Given the description of an element on the screen output the (x, y) to click on. 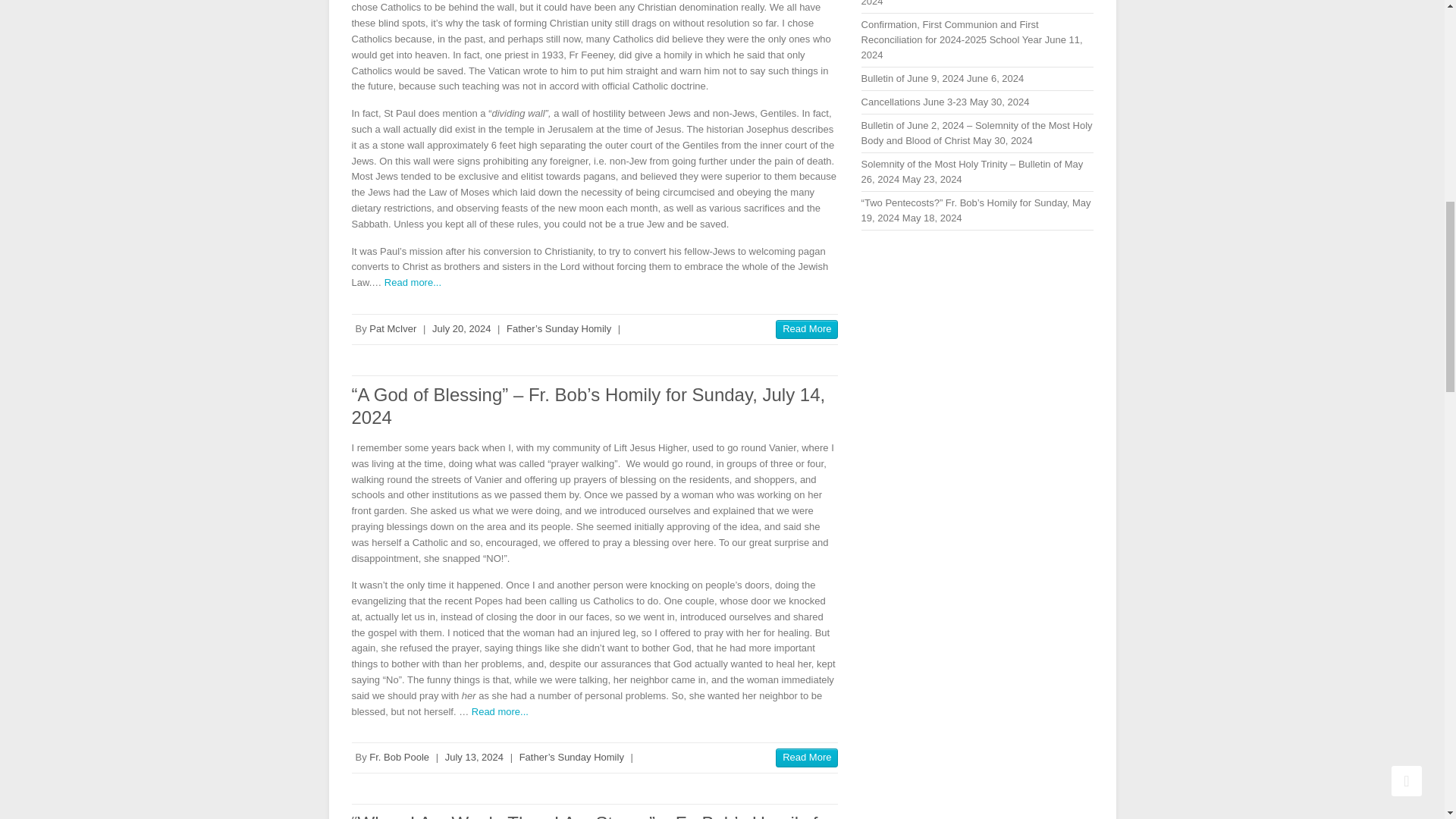
July 20, 2024 (461, 328)
5:30 pm (474, 756)
Read more... (412, 282)
5:30 pm (461, 328)
Pat McIver (392, 328)
